Given the description of an element on the screen output the (x, y) to click on. 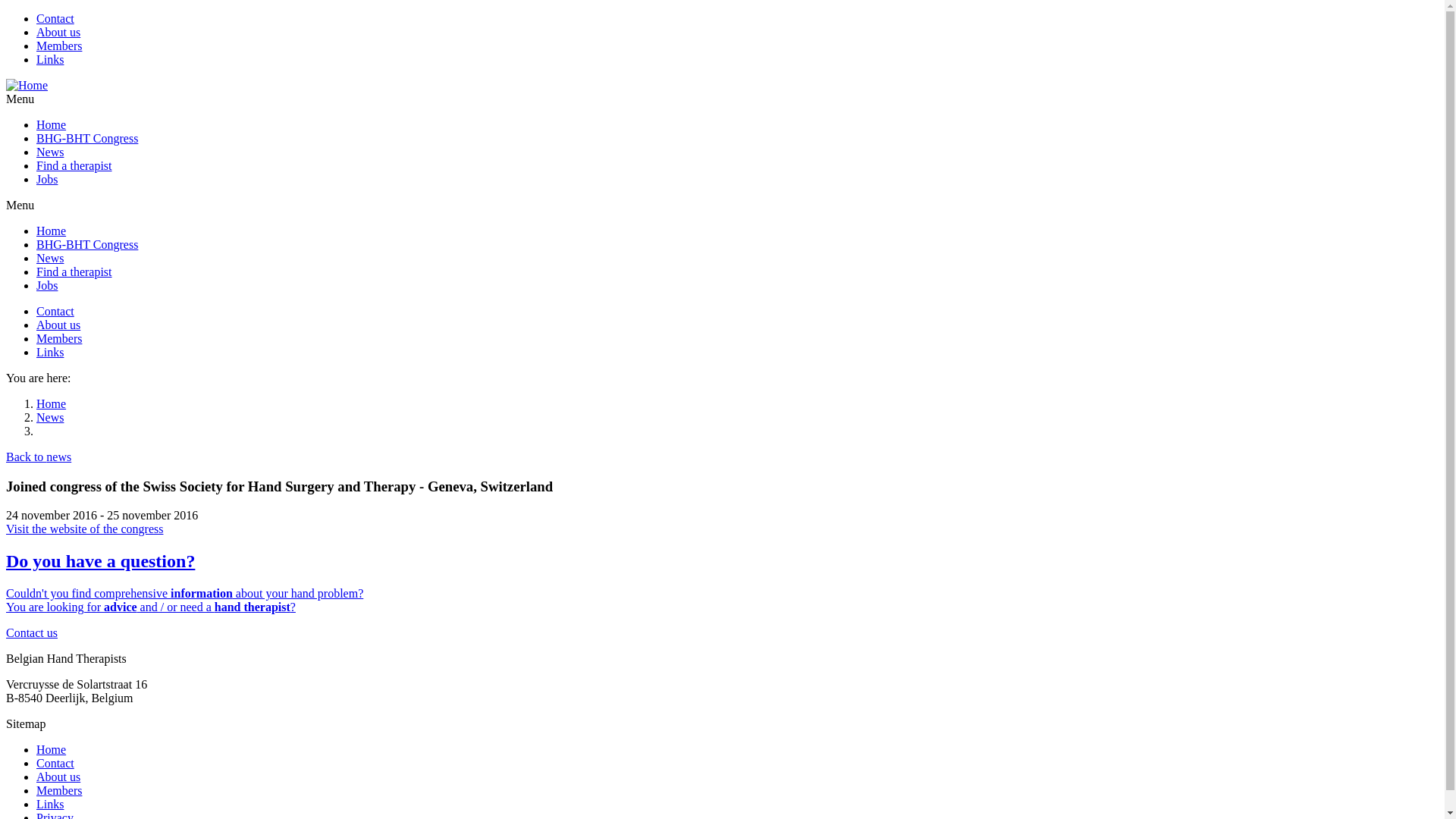
Find a therapist Element type: text (74, 271)
Members Element type: text (58, 790)
Contact Element type: text (55, 762)
Members Element type: text (58, 45)
Home Element type: text (50, 403)
Home Element type: text (50, 230)
About us Element type: text (58, 324)
BHG-BHT Congress Element type: text (87, 137)
Jobs Element type: text (46, 178)
Home Element type: text (50, 749)
News Element type: text (49, 417)
News Element type: text (49, 151)
Members Element type: text (58, 338)
Links Element type: text (49, 803)
Back to news Element type: text (38, 456)
News Element type: text (49, 257)
BHG-BHT Congress Element type: text (87, 244)
Contact Element type: text (55, 310)
Home Element type: text (50, 124)
Contact Element type: text (55, 18)
Visit the website of the congress Element type: text (84, 528)
Links Element type: text (49, 59)
Links Element type: text (49, 351)
Jobs Element type: text (46, 285)
About us Element type: text (58, 31)
Home Element type: hover (26, 84)
Find a therapist Element type: text (74, 165)
About us Element type: text (58, 776)
